Given the description of an element on the screen output the (x, y) to click on. 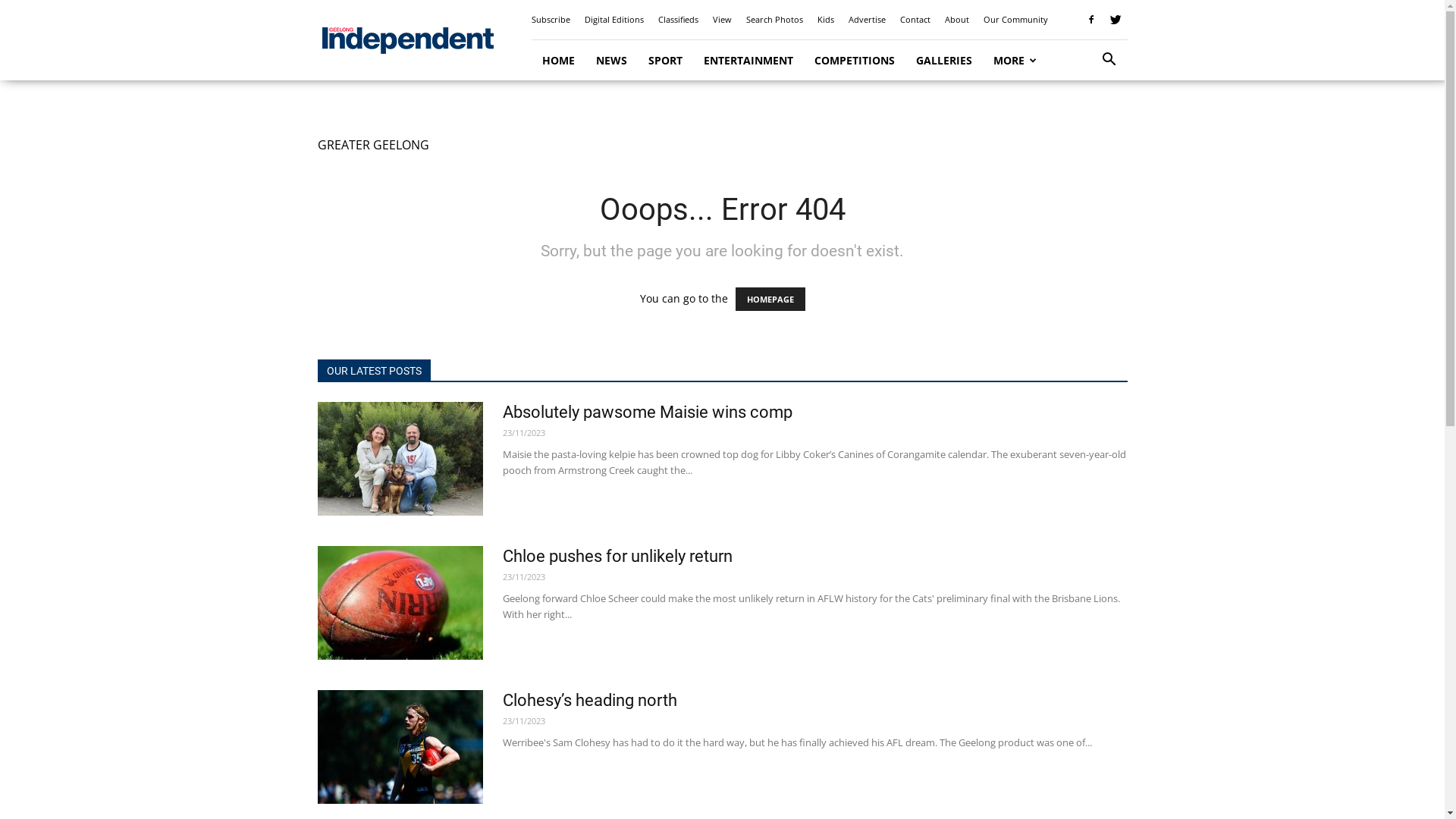
Subscribe Element type: text (549, 19)
Advertise Element type: text (865, 19)
COMPETITIONS Element type: text (854, 60)
Facebook Element type: hover (1090, 19)
GALLERIES Element type: text (943, 60)
Chloe pushes for unlikely return Element type: text (616, 555)
NEWS Element type: text (611, 60)
MORE Element type: text (1015, 60)
View Element type: text (721, 19)
Chloe pushes for unlikely return Element type: hover (399, 602)
HOMEPAGE Element type: text (770, 298)
Search Element type: text (1085, 122)
Absolutely pawsome Maisie wins comp Element type: text (646, 411)
Digital Editions Element type: text (613, 19)
Search Photos Element type: text (774, 19)
ENTERTAINMENT Element type: text (748, 60)
Our Community Element type: text (1014, 19)
Twitter Element type: hover (1115, 19)
About Element type: text (956, 19)
HOME Element type: text (557, 60)
Contact Element type: text (914, 19)
Absolutely pawsome Maisie wins comp Element type: hover (399, 458)
Classifieds Element type: text (678, 19)
Kids Element type: text (825, 19)
SPORT Element type: text (664, 60)
